Given the description of an element on the screen output the (x, y) to click on. 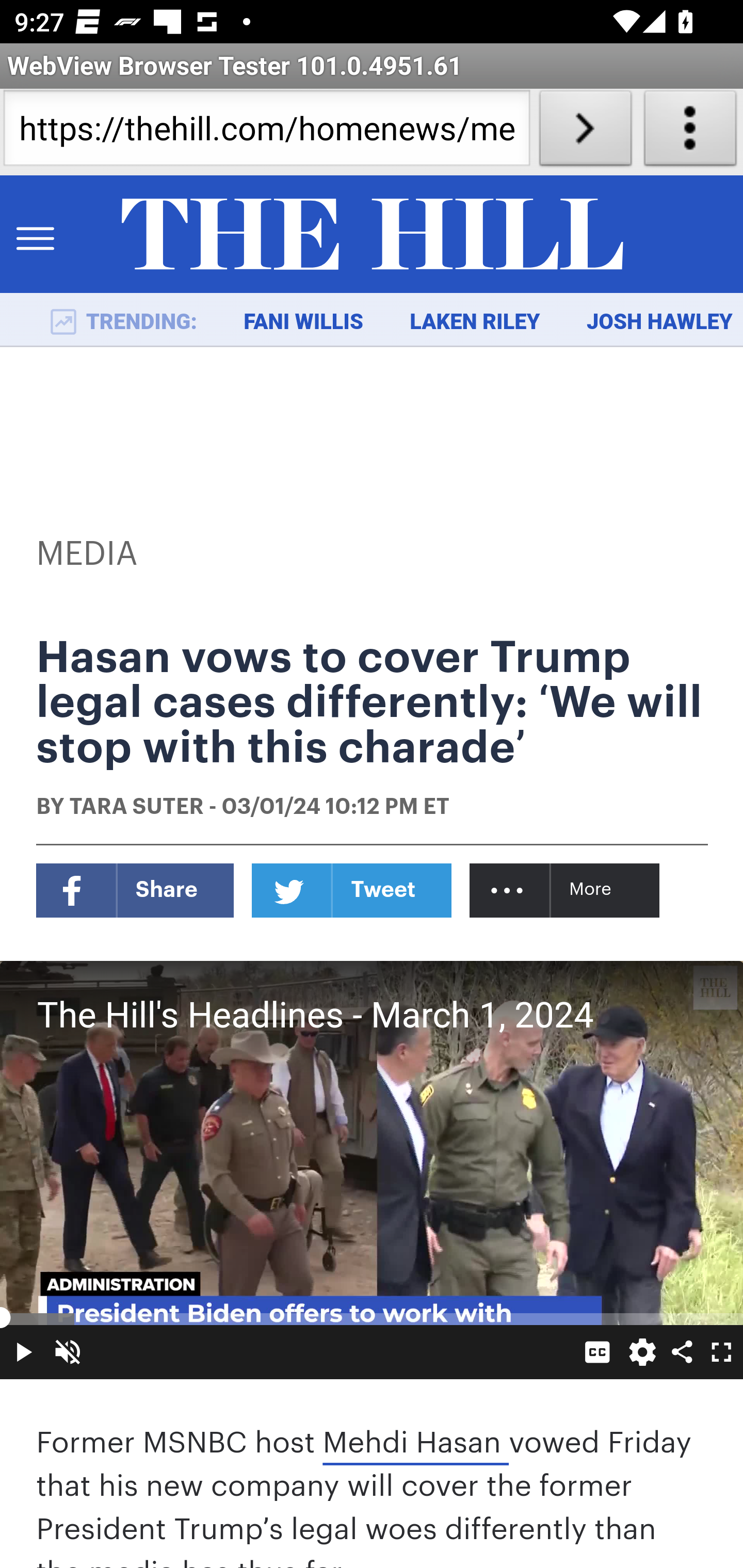
Load URL (585, 132)
About WebView (690, 132)
Toggle Menu (34, 234)
TheHill.com (371, 234)
FANI WILLIS (303, 321)
LAKEN RILEY (474, 321)
JOSH HAWLEY (659, 321)
MEDIA (87, 554)
TARA SUTER (135, 808)
Facebook Share Facebook Share (135, 889)
Twitter Tweet Twitter Tweet (352, 889)
... More (565, 889)
Play (23, 1351)
Unmute (67, 1351)
Captions (597, 1351)
 Share (682, 1351)
Fullscreen (719, 1351)
Mehdi Hasan  (414, 1443)
